Given the description of an element on the screen output the (x, y) to click on. 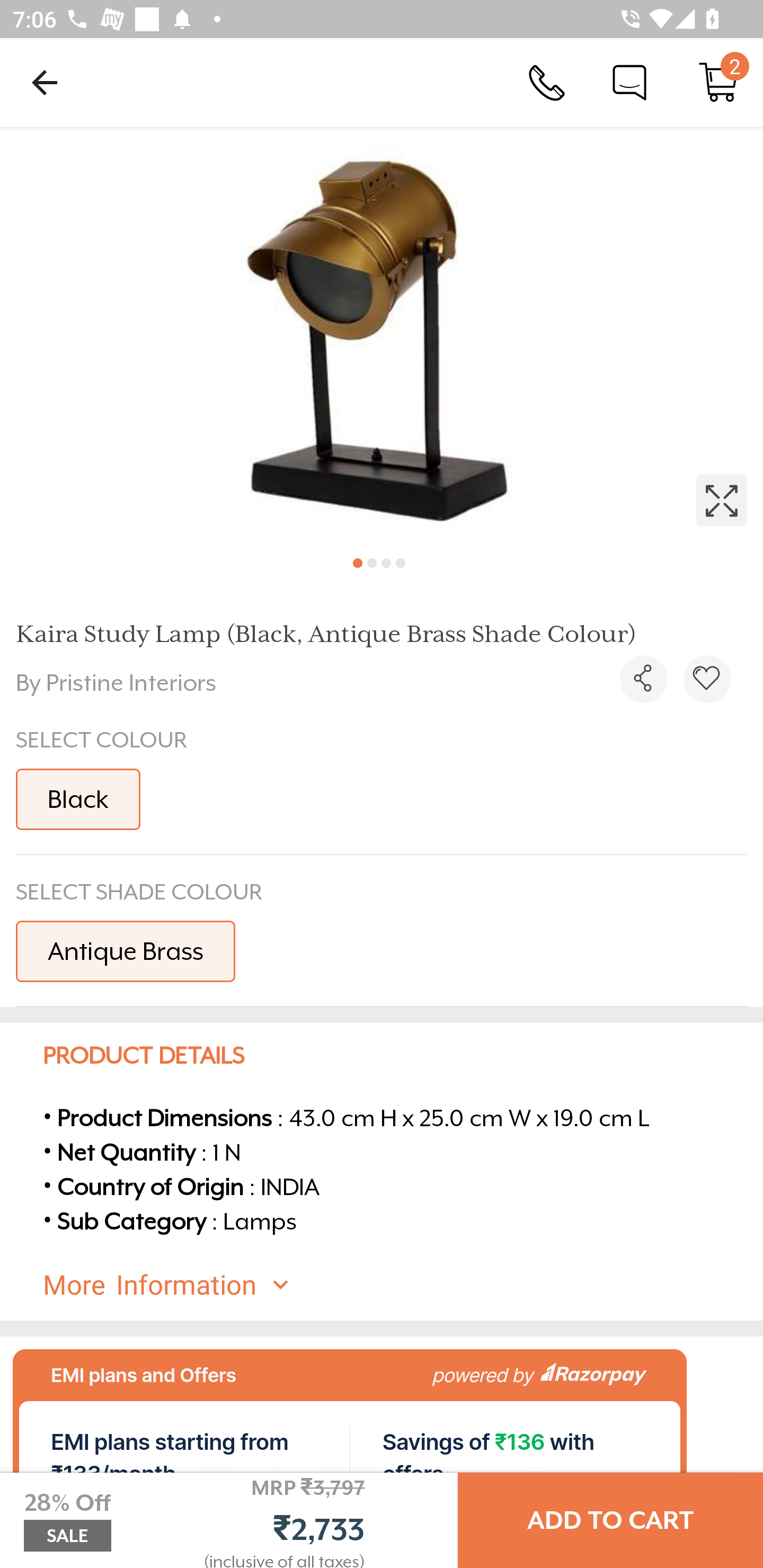
Navigate up (44, 82)
Call Us (546, 81)
Chat (629, 81)
Cart (718, 81)
 (381, 334)
 (643, 678)
 (706, 678)
Black (78, 798)
Antique Brass (125, 950)
More Information  (396, 1284)
ADD TO CART (610, 1520)
